Given the description of an element on the screen output the (x, y) to click on. 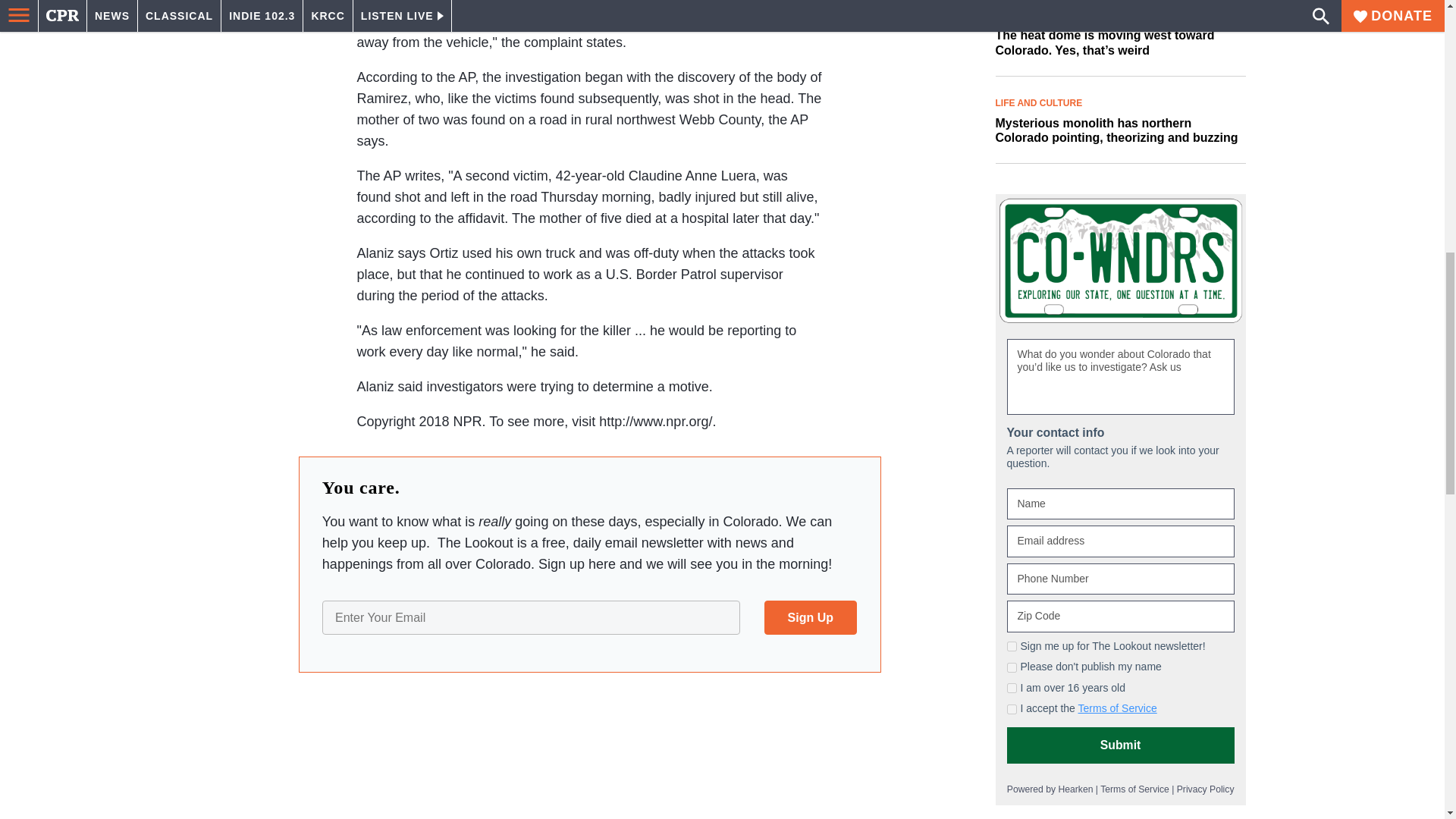
on (1011, 667)
on (1011, 687)
on (1011, 646)
on (1011, 709)
newsArticleSignup (589, 617)
